Given the description of an element on the screen output the (x, y) to click on. 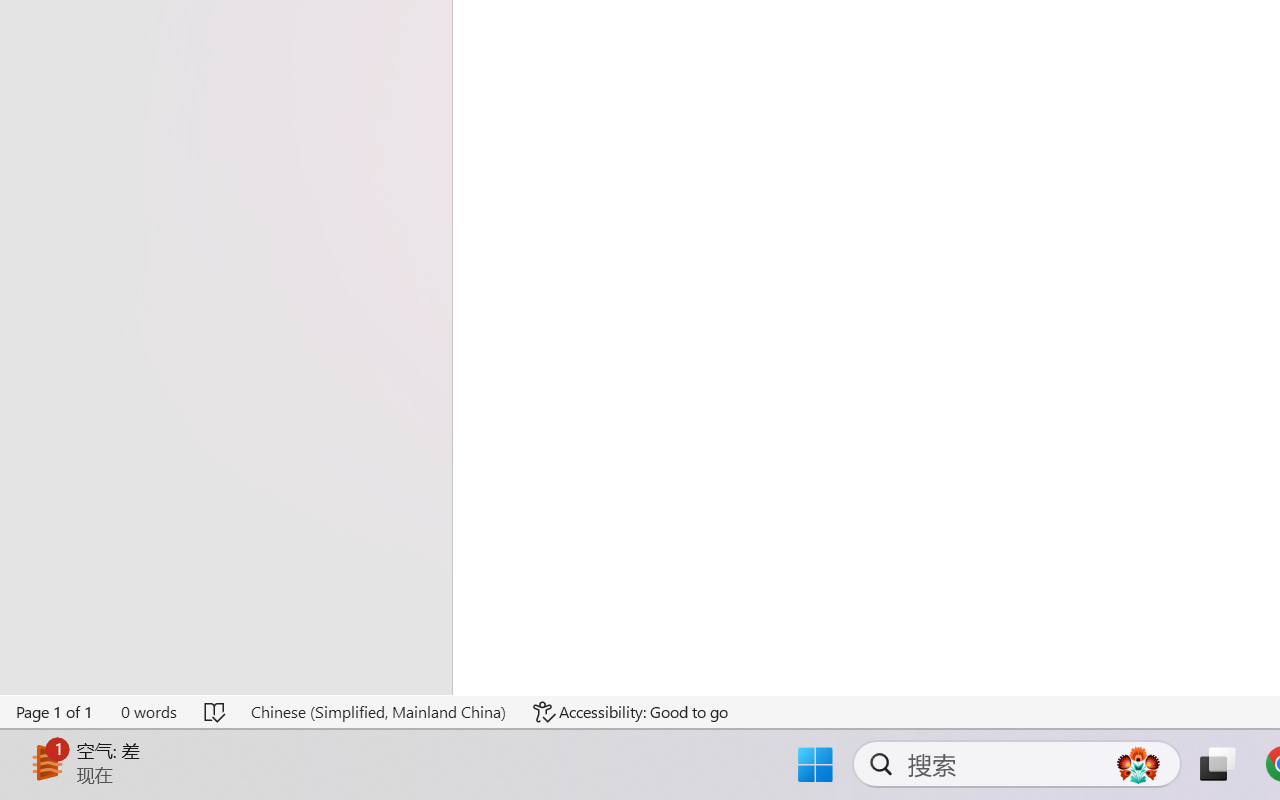
Language Chinese (Simplified, Mainland China) (378, 712)
